Given the description of an element on the screen output the (x, y) to click on. 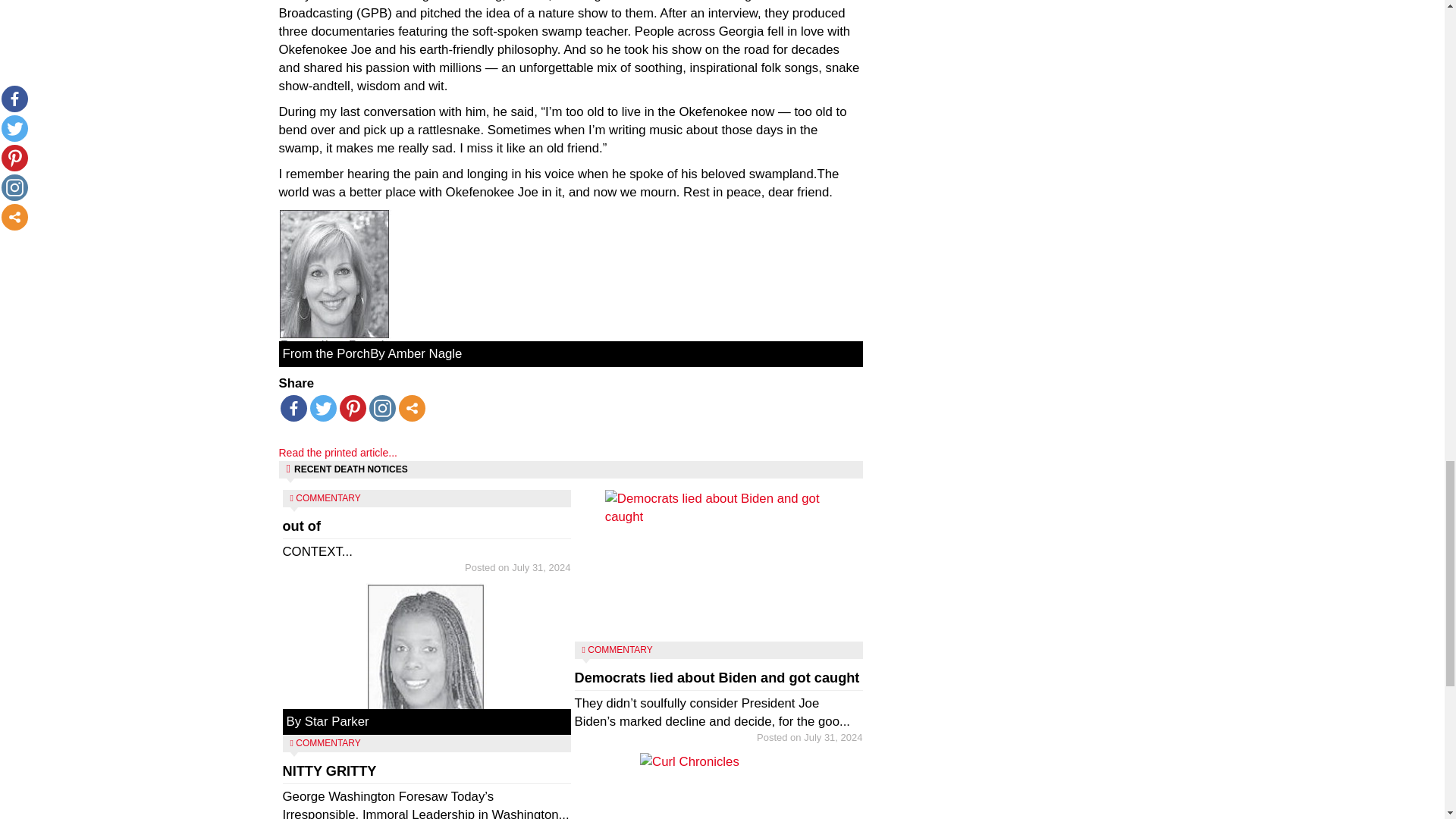
COMMENTARY (328, 498)
NITTY GRITTY (328, 770)
Facebook (294, 407)
More (411, 407)
Twitter (322, 407)
Read the printed article... (338, 452)
Pinterest (426, 558)
Instagram (352, 407)
out of (381, 407)
COMMENTARY (301, 525)
